Given the description of an element on the screen output the (x, y) to click on. 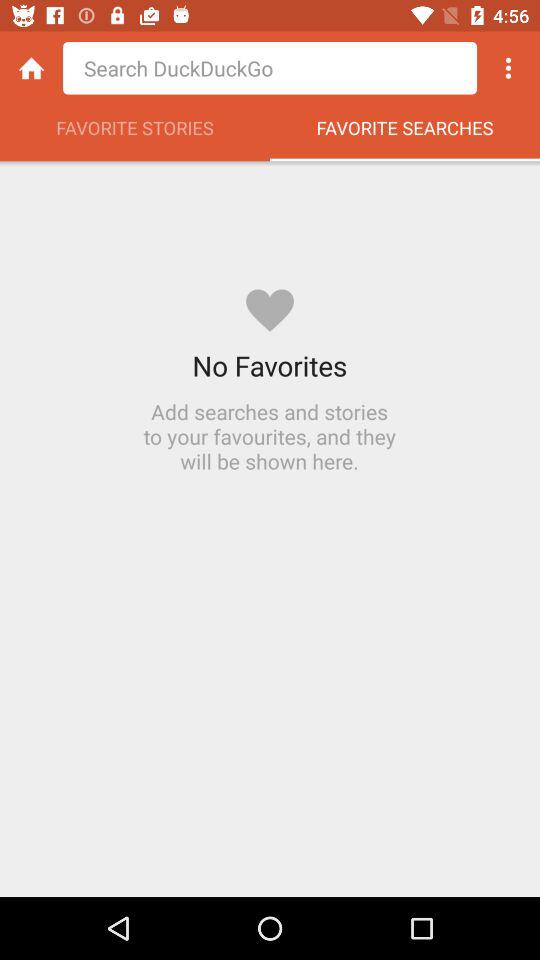
search field (270, 68)
